Given the description of an element on the screen output the (x, y) to click on. 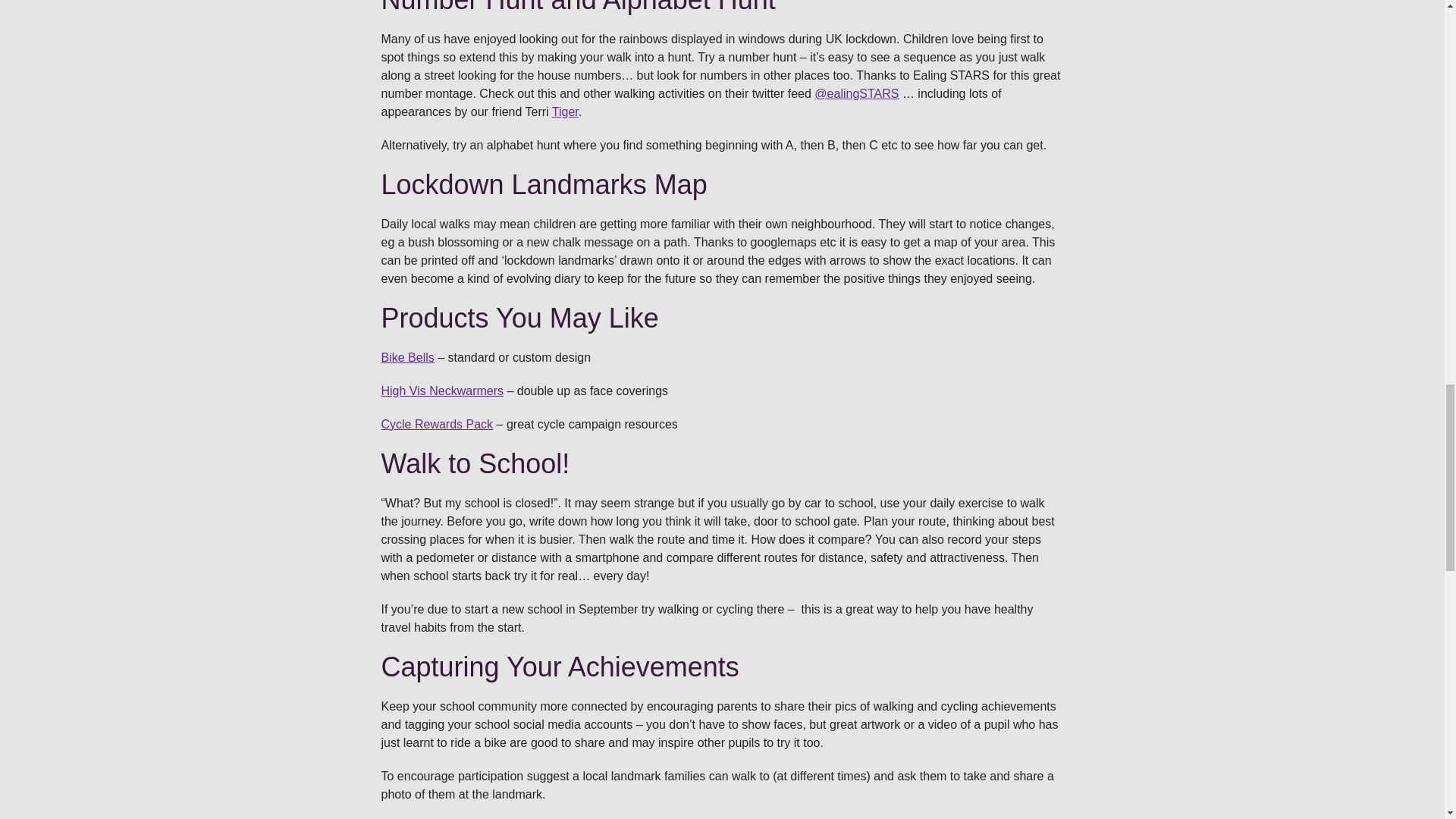
Cycle Rewards Pack (436, 423)
Tiger (564, 111)
Bike Bells (406, 357)
High Vis Neckwarmers (441, 390)
